Given the description of an element on the screen output the (x, y) to click on. 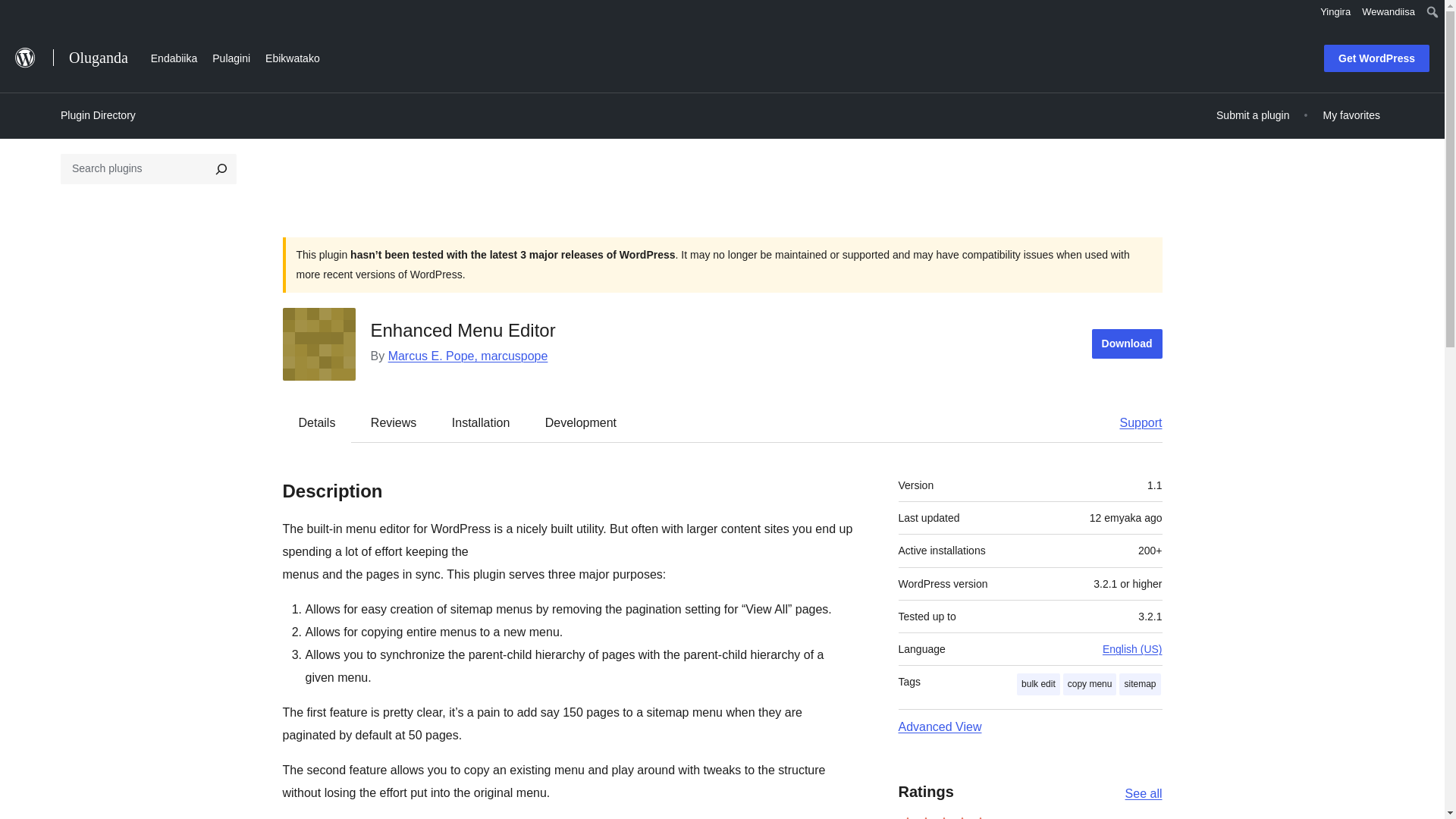
Ebikwatako (292, 56)
Plugin Directory (97, 115)
Noonya (18, 13)
Development (580, 422)
bulk edit (1037, 684)
My favorites (1351, 115)
Details (316, 422)
Reviews (392, 422)
Wewandiisa (1388, 12)
Download (1126, 344)
Get WordPress (1376, 58)
Yingira (1335, 12)
Support (1132, 422)
Endabiika (173, 56)
Submit a plugin (1253, 115)
